Given the description of an element on the screen output the (x, y) to click on. 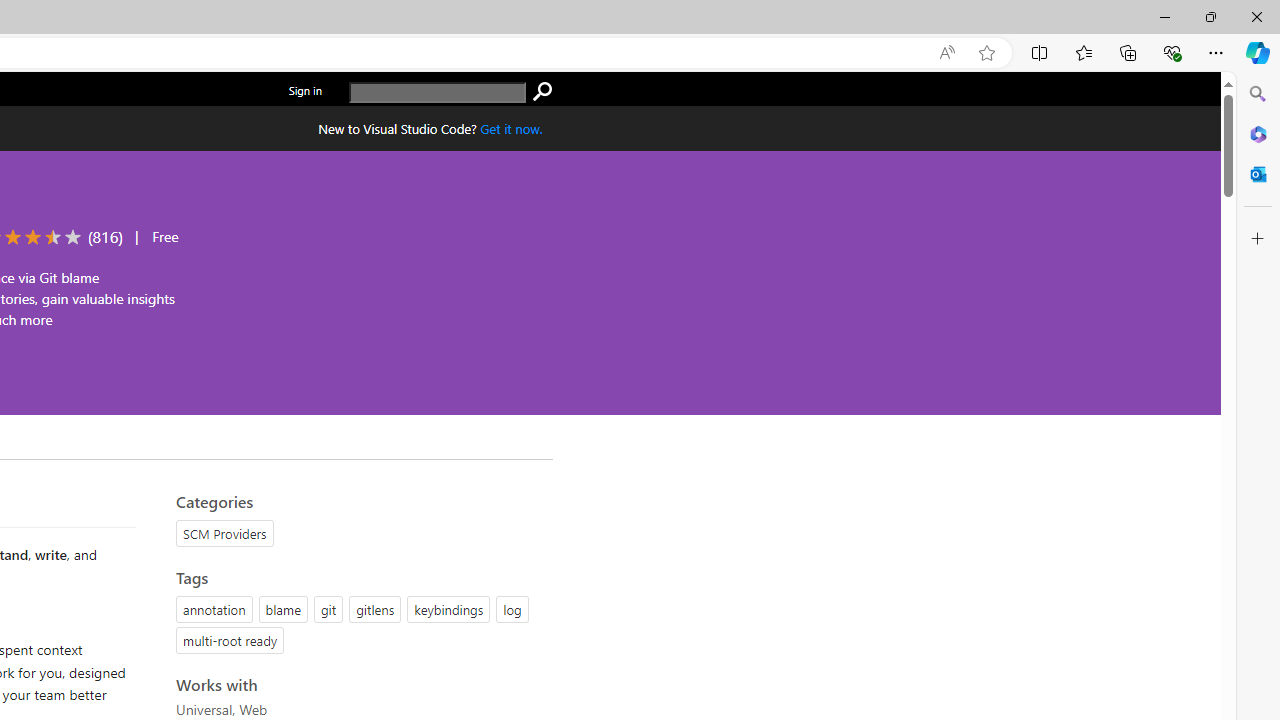
Get Visual Studio Code Now (511, 128)
